Given the description of an element on the screen output the (x, y) to click on. 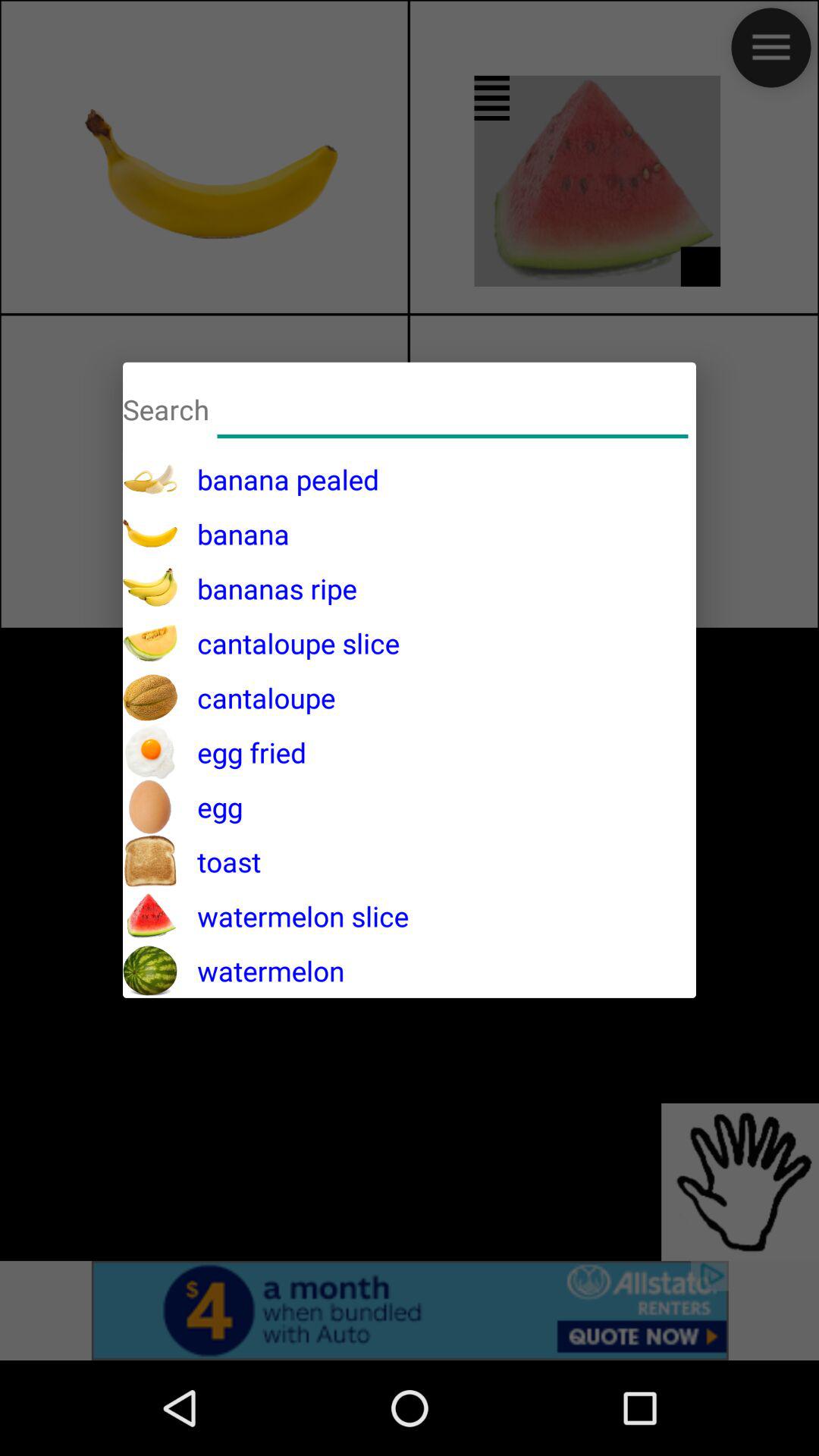
scroll until banana pealed (278, 479)
